Given the description of an element on the screen output the (x, y) to click on. 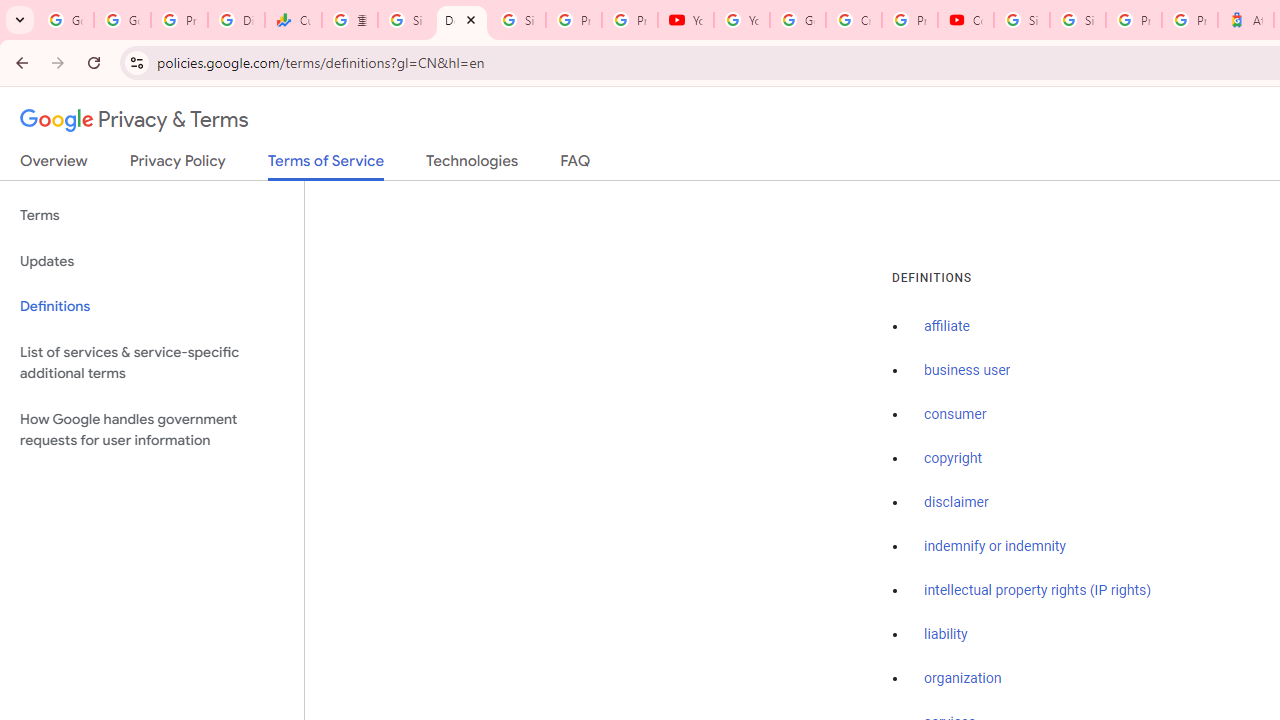
Sign in - Google Accounts (1077, 20)
